Given the description of an element on the screen output the (x, y) to click on. 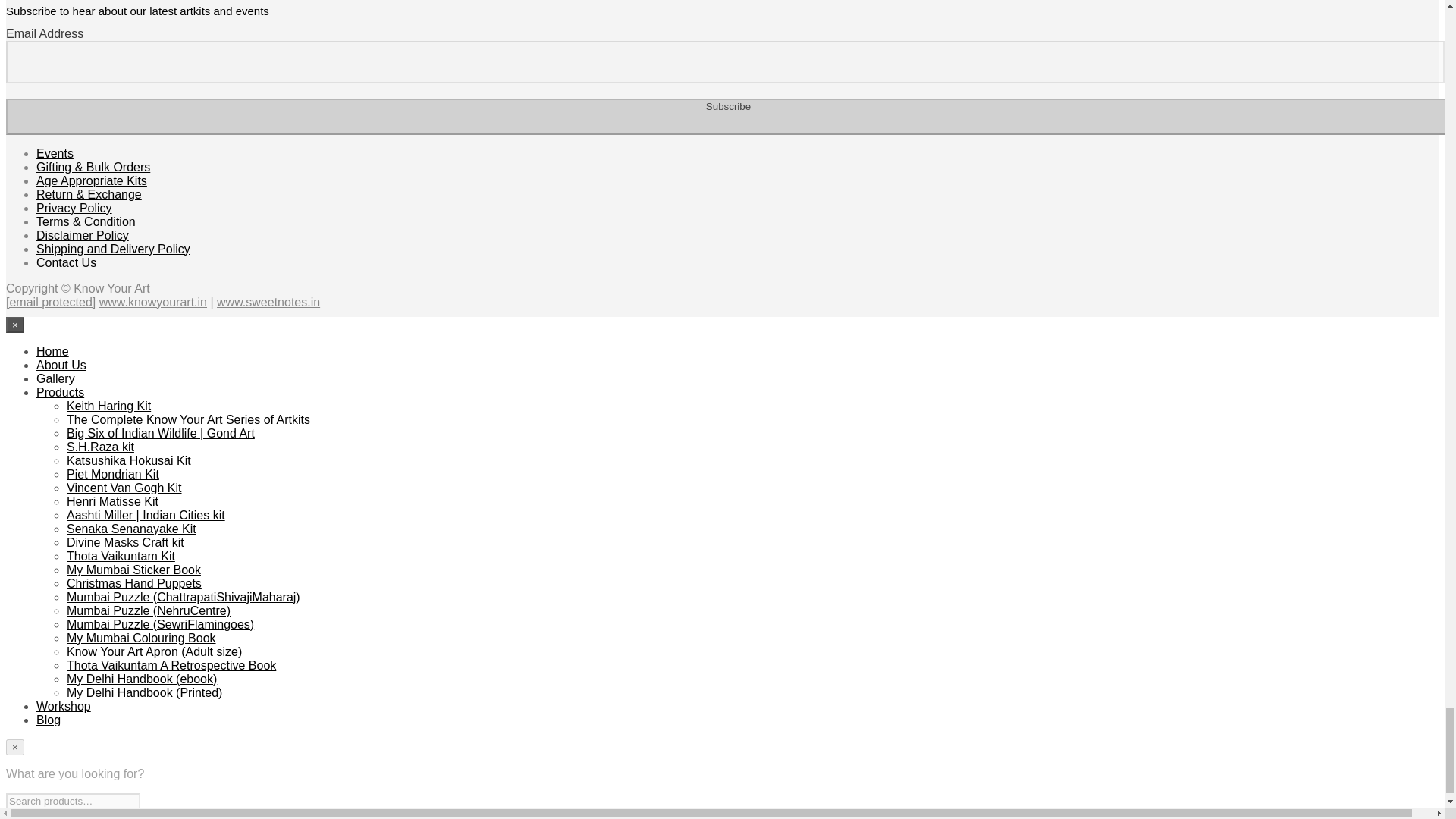
Subscribe (727, 116)
